Given the description of an element on the screen output the (x, y) to click on. 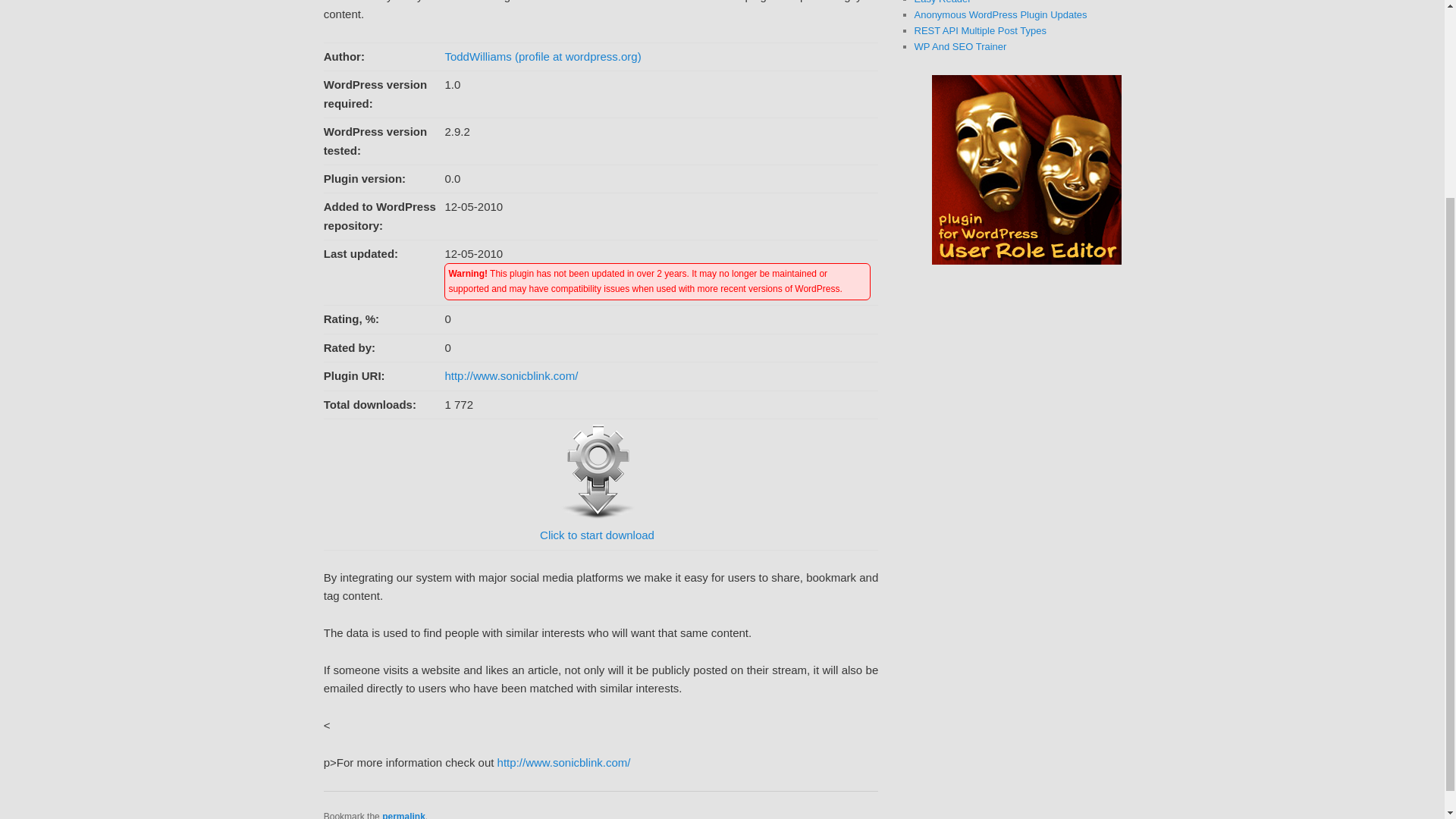
plugin home page (511, 375)
Anonymous WordPress Plugin Updates (1000, 14)
REST API Multiple Post Types (980, 30)
download from WordPress plugins repository (596, 525)
Click to start download (596, 525)
Easy Reader (942, 2)
ToddWilliams (477, 56)
User Role Editor Pro (1026, 261)
Anonymizes the data transmitted during plugin update check. (1000, 14)
